Given the description of an element on the screen output the (x, y) to click on. 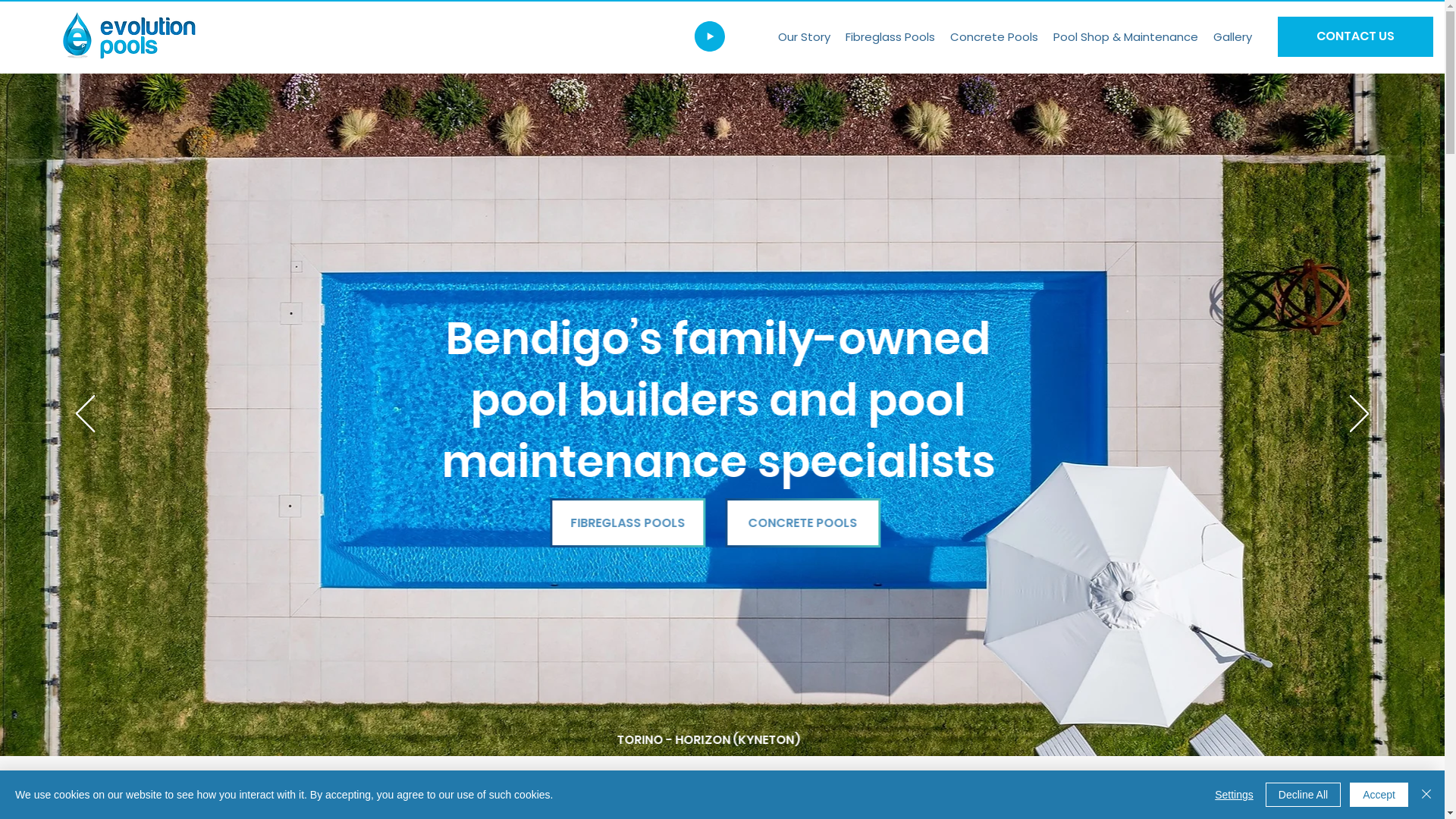
Our Story Element type: text (803, 36)
CONCRETE POOLS Element type: text (806, 522)
Accept Element type: text (1378, 794)
CONTACT US Element type: text (1355, 36)
Decline All Element type: text (1302, 794)
Fibreglass Pools Element type: text (889, 36)
FIBREGLASS POOLS Element type: text (631, 522)
Concrete Pools Element type: text (993, 36)
Pool Shop & Maintenance Element type: text (1125, 36)
Gallery Element type: text (1232, 36)
